Given the description of an element on the screen output the (x, y) to click on. 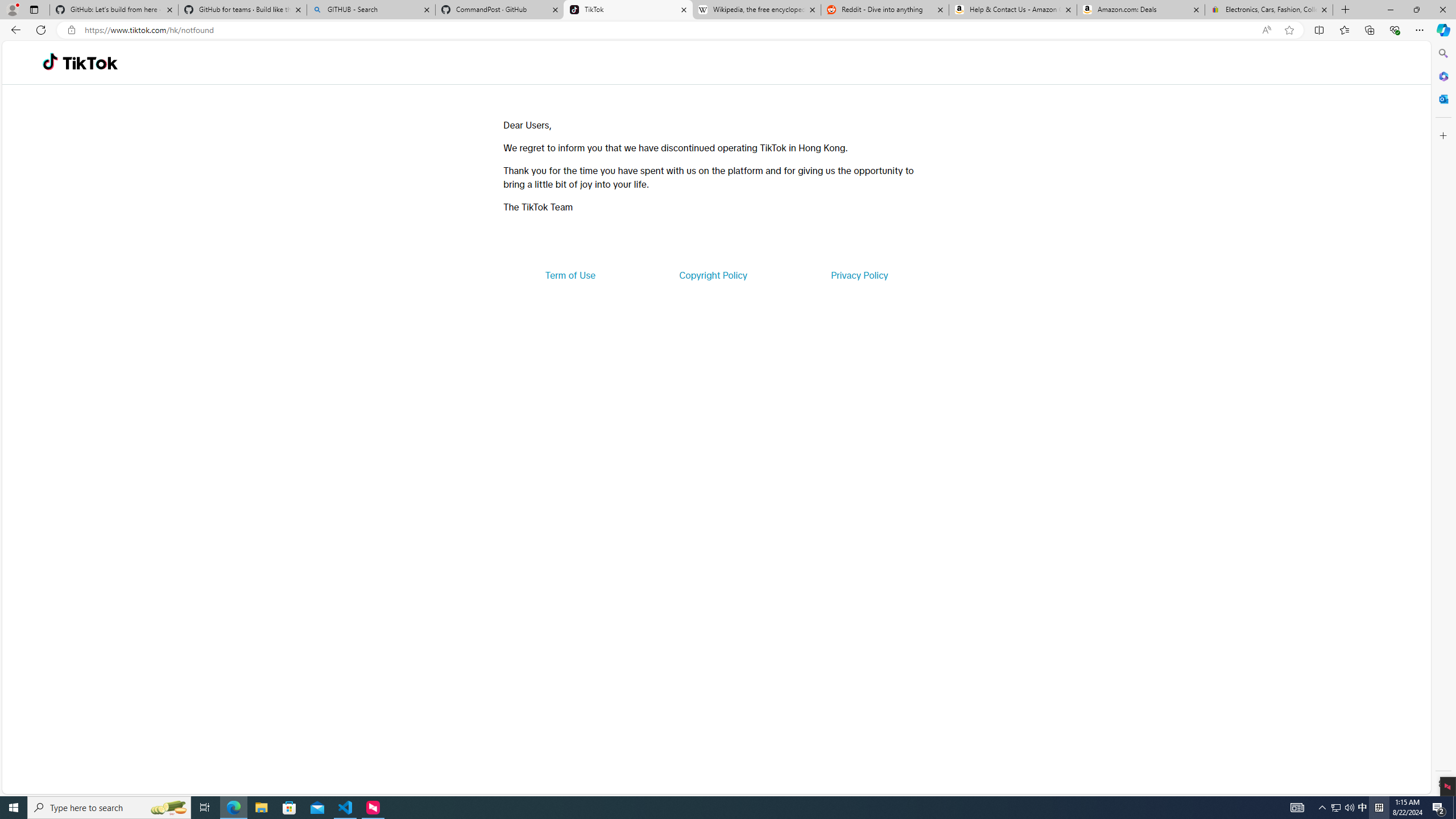
Term of Use (569, 274)
